Given the description of an element on the screen output the (x, y) to click on. 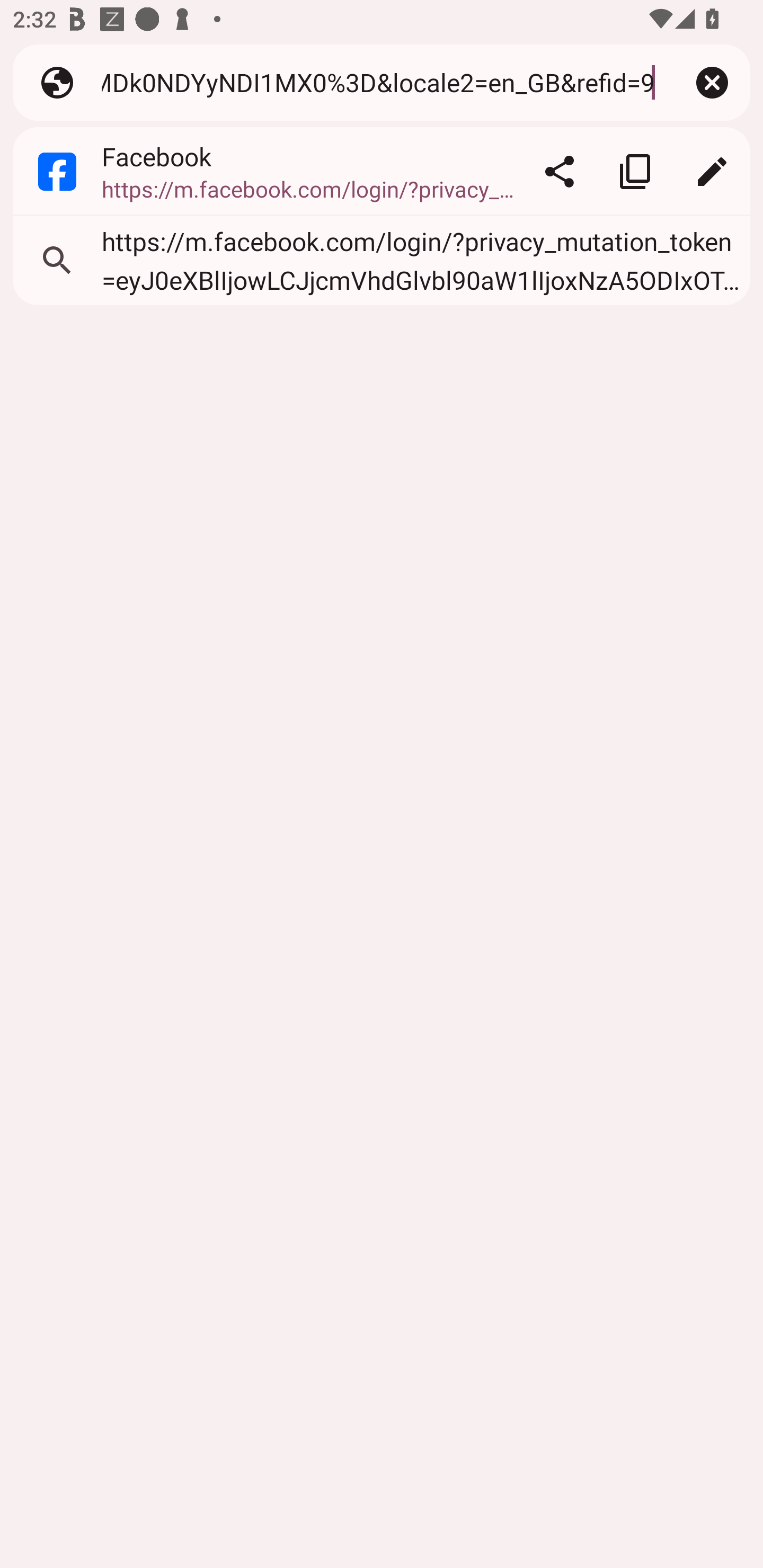
Clear input (711, 82)
Share… (559, 171)
Copy link (635, 171)
Edit (711, 171)
